Given the description of an element on the screen output the (x, y) to click on. 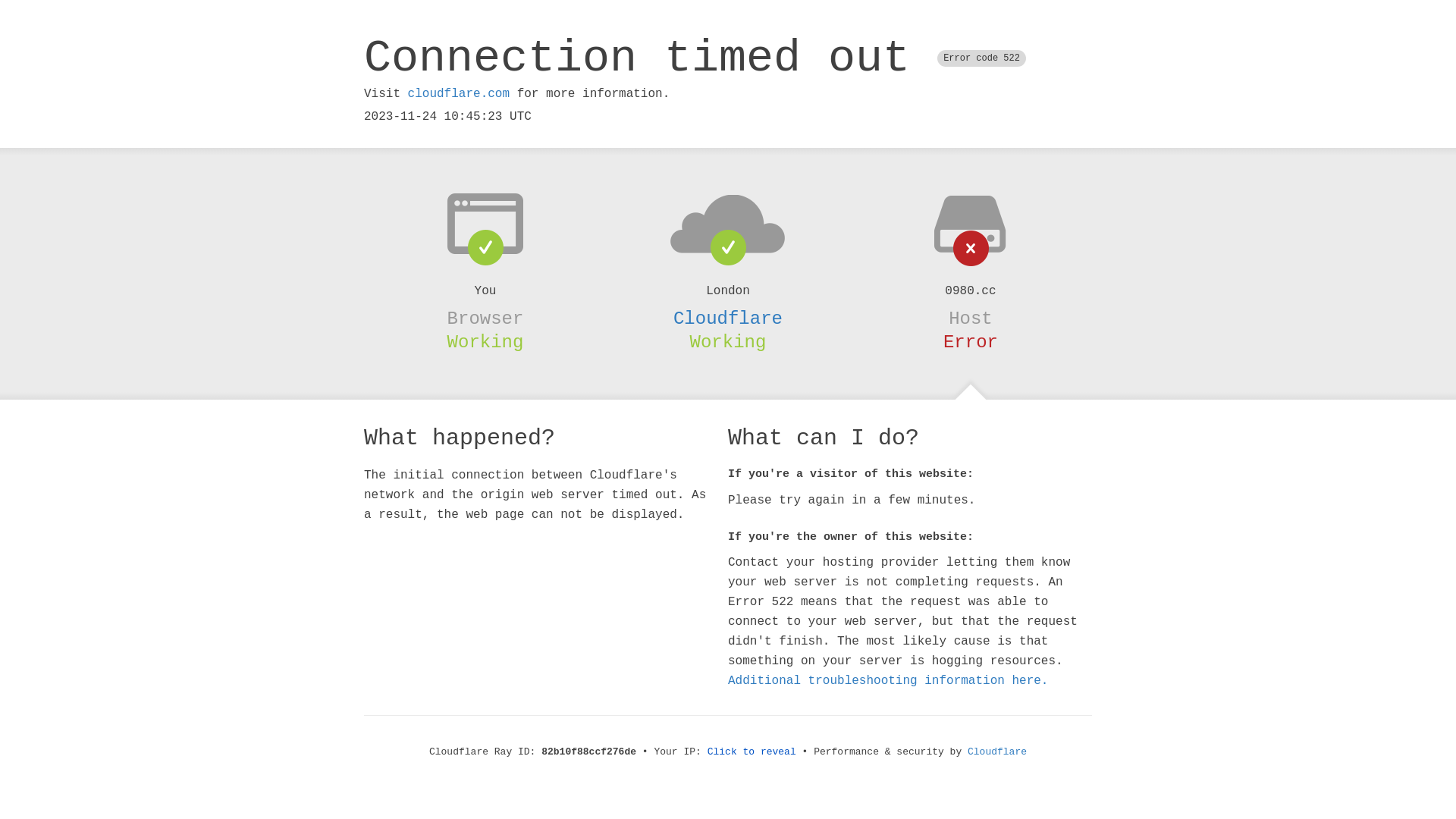
Click to reveal Element type: text (751, 751)
cloudflare.com Element type: text (458, 93)
Additional troubleshooting information here. Element type: text (888, 680)
Cloudflare Element type: text (727, 318)
Cloudflare Element type: text (996, 751)
